Given the description of an element on the screen output the (x, y) to click on. 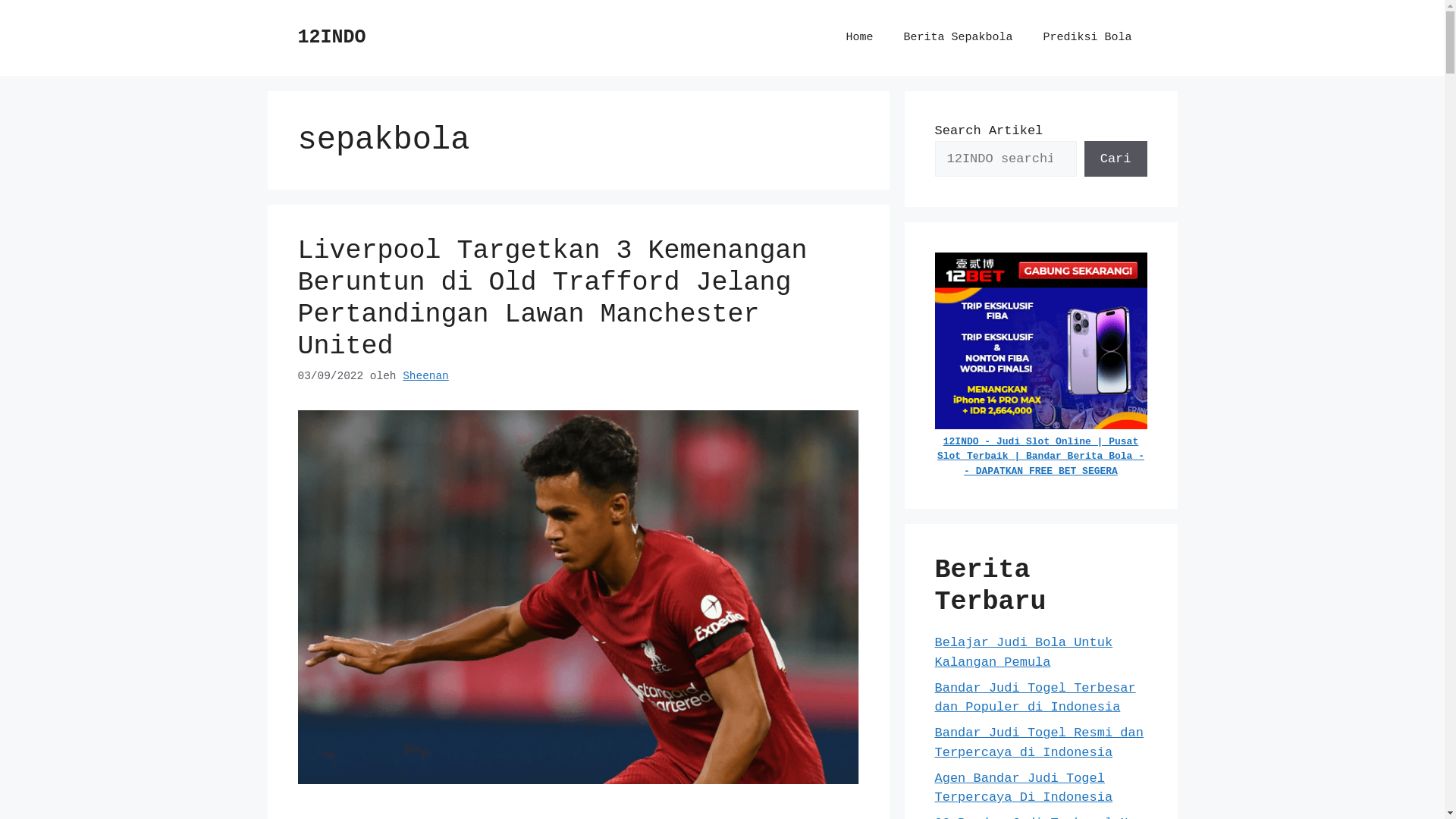
Cari Element type: text (1115, 159)
Prediksi Bola Element type: text (1086, 37)
Bandar Judi Togel Resmi dan Terpercaya di Indonesia Element type: text (1038, 742)
Agen Bandar Judi Togel Terpercaya Di Indonesia Element type: text (1023, 788)
Sheenan Element type: text (425, 376)
Home Element type: text (859, 37)
Belajar Judi Bola Untuk Kalangan Pemula Element type: text (1023, 652)
Bandar Judi Togel Terbesar dan Populer di Indonesia Element type: text (1034, 697)
Berita Sepakbola Element type: text (957, 37)
12INDO Element type: text (331, 37)
